Given the description of an element on the screen output the (x, y) to click on. 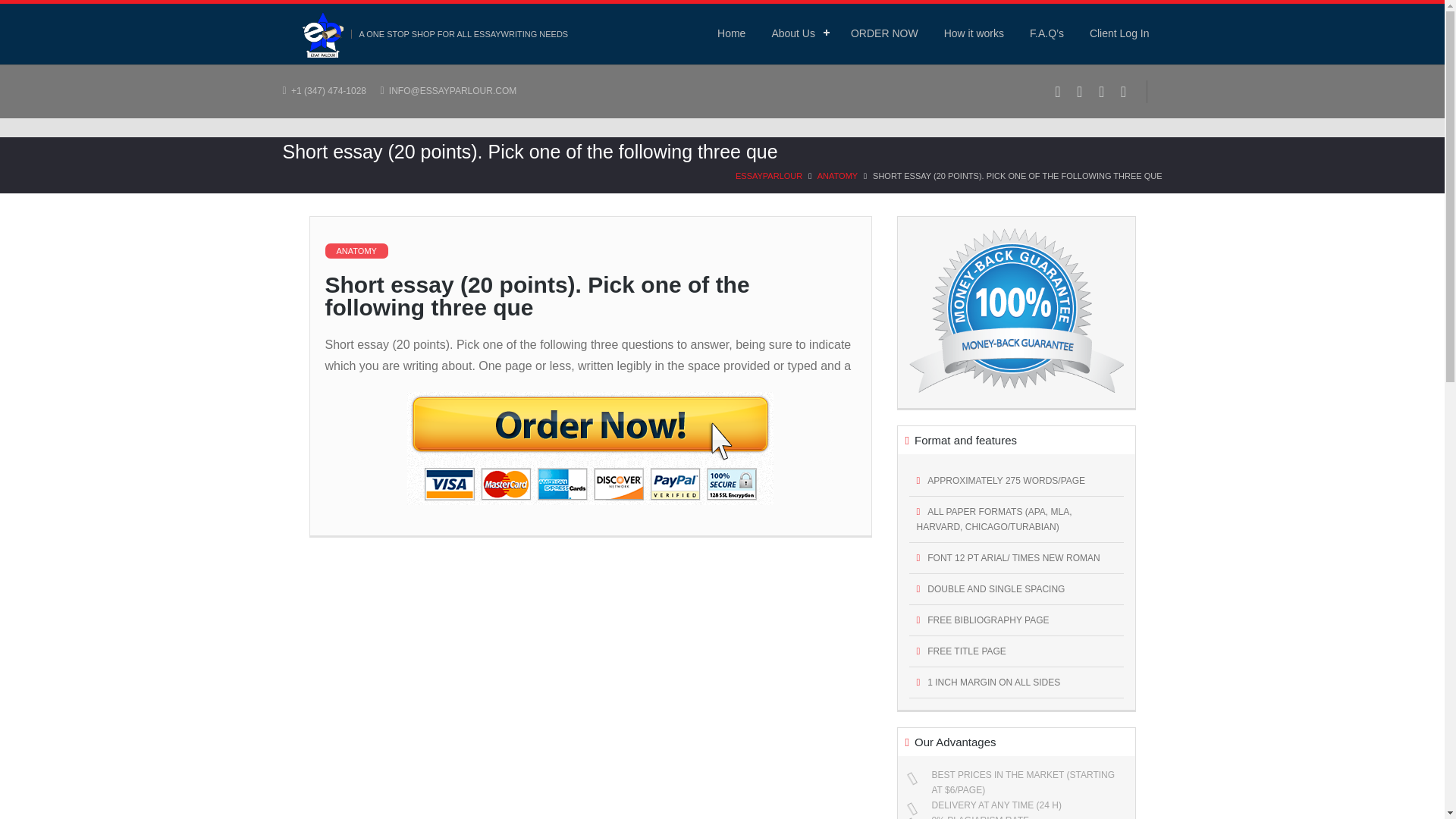
ANATOMY (836, 175)
ESSAYPARLOUR (768, 175)
How it works (973, 33)
Facebook (1057, 91)
Client Log In (1119, 33)
Instagram (1123, 91)
About Us (798, 33)
ORDER NOW (884, 33)
Twitter (1079, 91)
Home (731, 33)
